Given the description of an element on the screen output the (x, y) to click on. 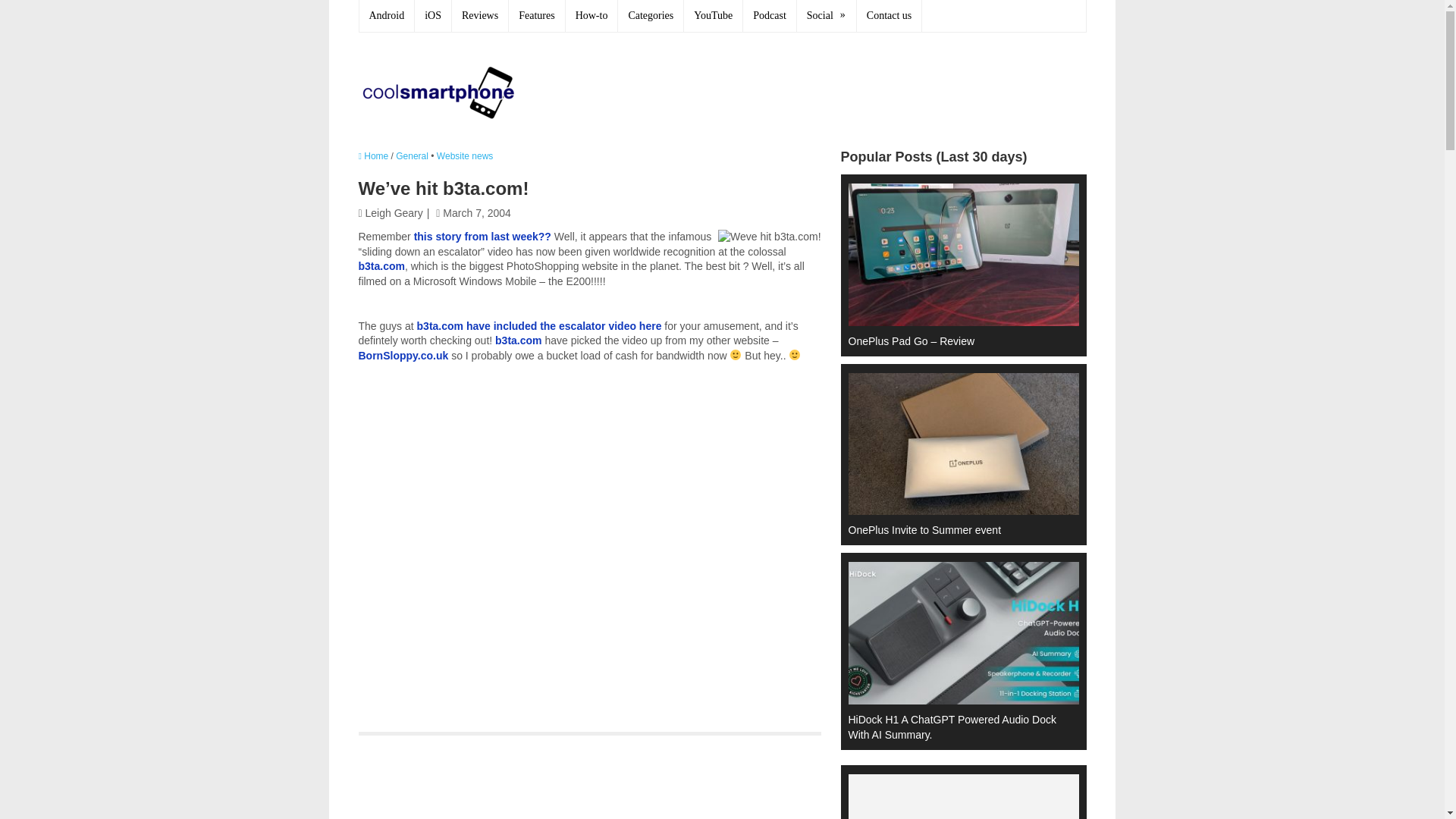
BornSloppy.co.uk (403, 355)
b3ta.com have included the escalator video here (539, 326)
b3ta.com (381, 265)
Posts by Leigh Geary (394, 213)
b3ta.com (518, 340)
Reviews (479, 15)
General (412, 155)
HiDock H1 A ChatGPT Powered Audio Dock With AI Summary. (955, 649)
Features (536, 15)
Weve hit b3ta.com! (769, 237)
Leigh Geary (394, 213)
Home (373, 155)
OnePlus Invite to Summer event (955, 453)
Contact us (890, 15)
